Given the description of an element on the screen output the (x, y) to click on. 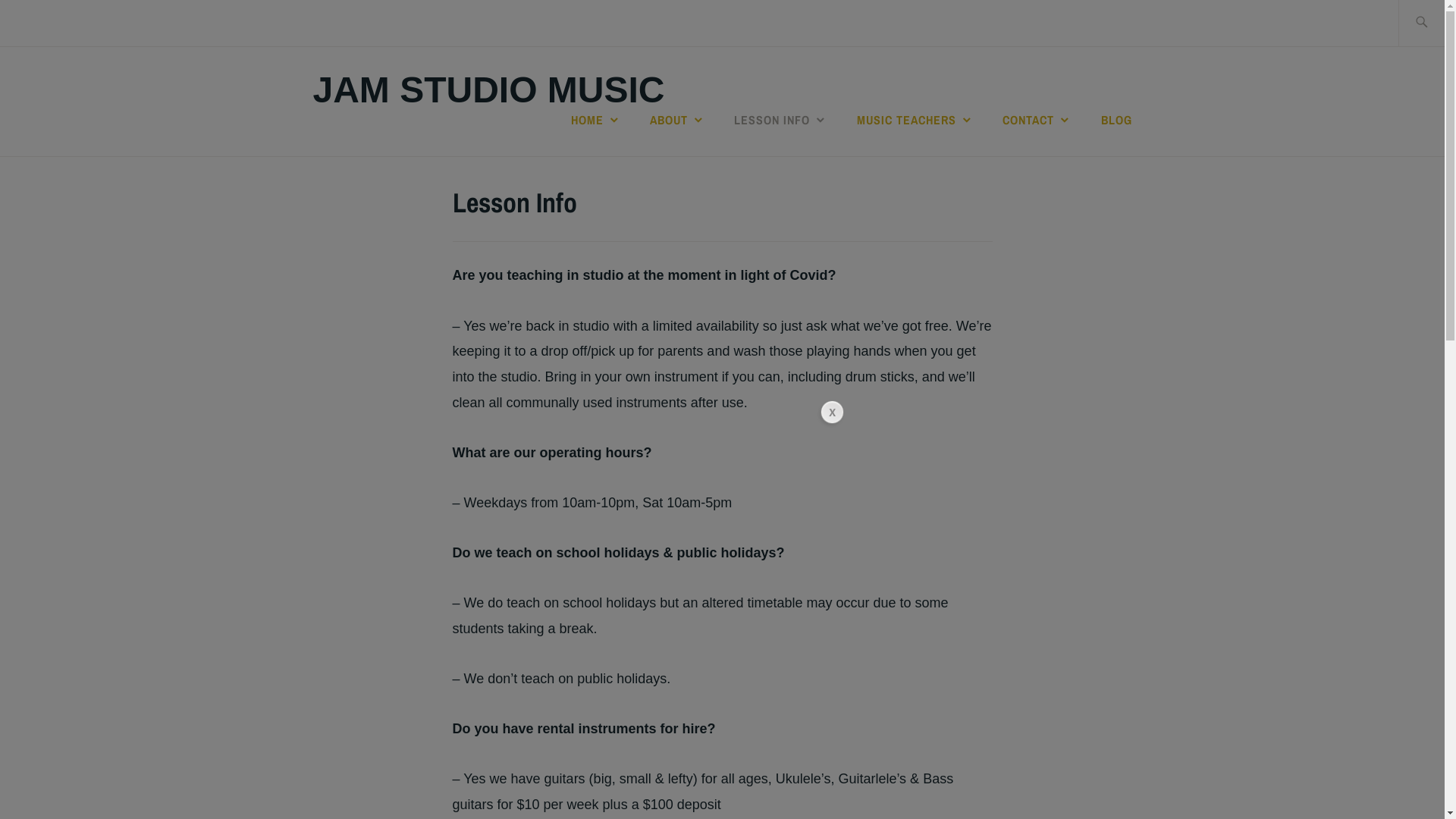
BLOG Element type: text (1116, 119)
Search Element type: text (47, 21)
CONTACT Element type: text (1036, 119)
LESSON INFO Element type: text (780, 119)
ABOUT Element type: text (677, 119)
HOME Element type: text (596, 119)
MUSIC TEACHERS Element type: text (914, 119)
Skip to content Element type: text (0, 0)
JAM STUDIO MUSIC Element type: text (488, 89)
